Given the description of an element on the screen output the (x, y) to click on. 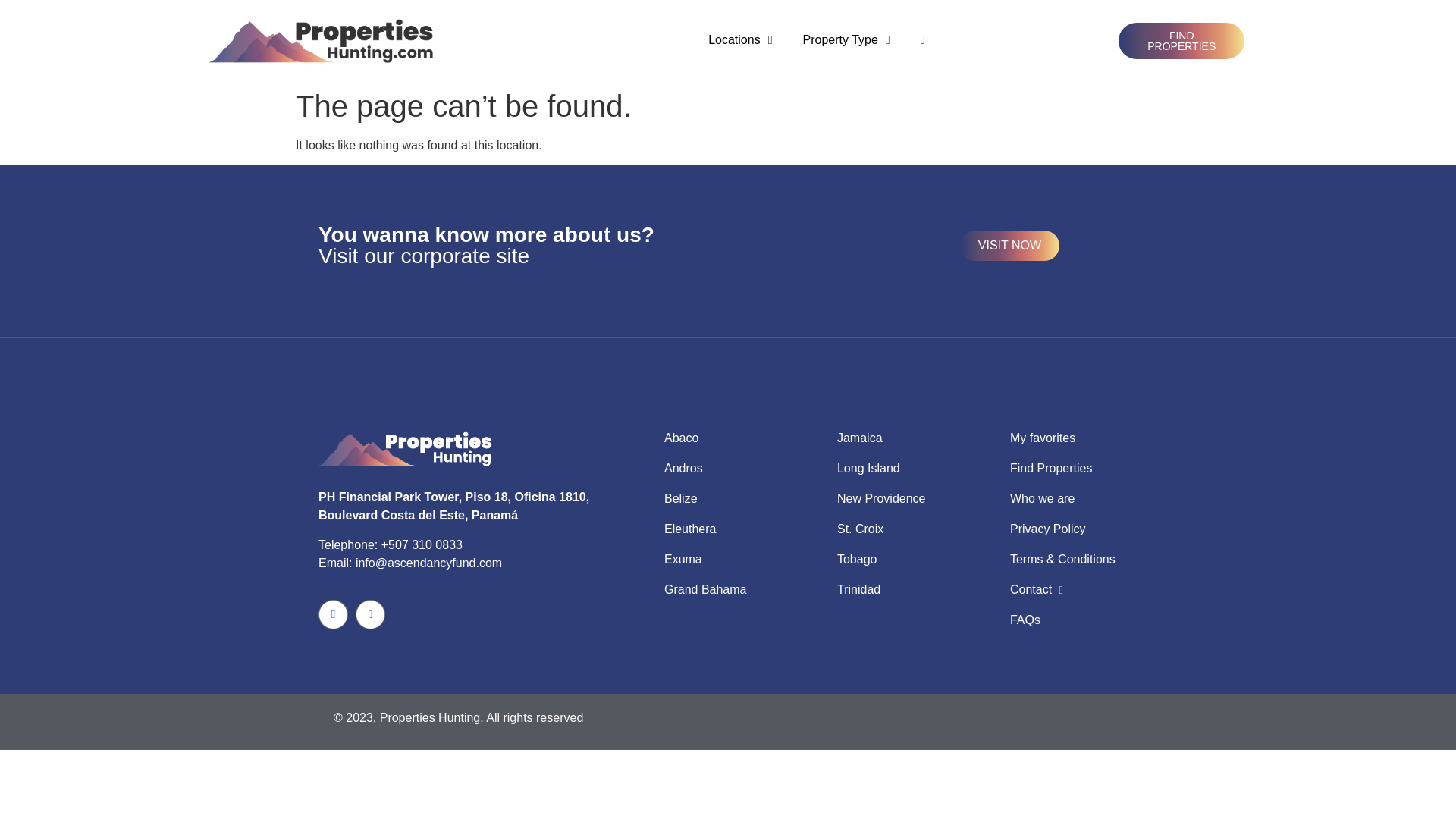
Property Type (845, 39)
Locations (740, 39)
FIND PROPERTIES (1181, 40)
